Given the description of an element on the screen output the (x, y) to click on. 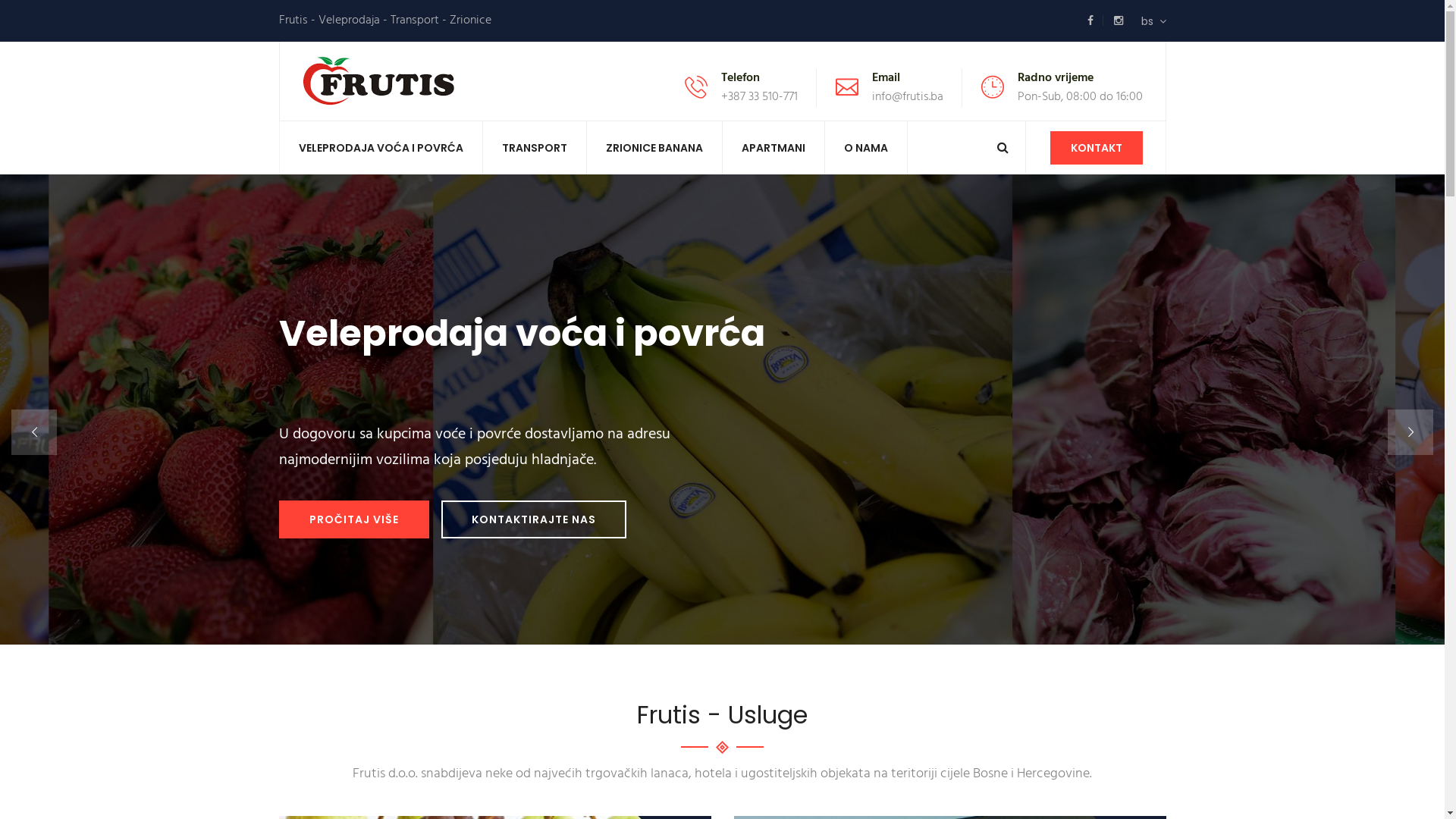
TRANSPORT Element type: text (533, 147)
info@frutis.ba Element type: text (907, 96)
bs  Element type: text (1152, 20)
APARTMANI Element type: text (772, 147)
ZRIONICE BANANA Element type: text (653, 147)
KONTAKT Element type: text (1095, 147)
KONTAKTIRAJTE NAS Element type: text (533, 519)
O NAMA Element type: text (865, 147)
